Given the description of an element on the screen output the (x, y) to click on. 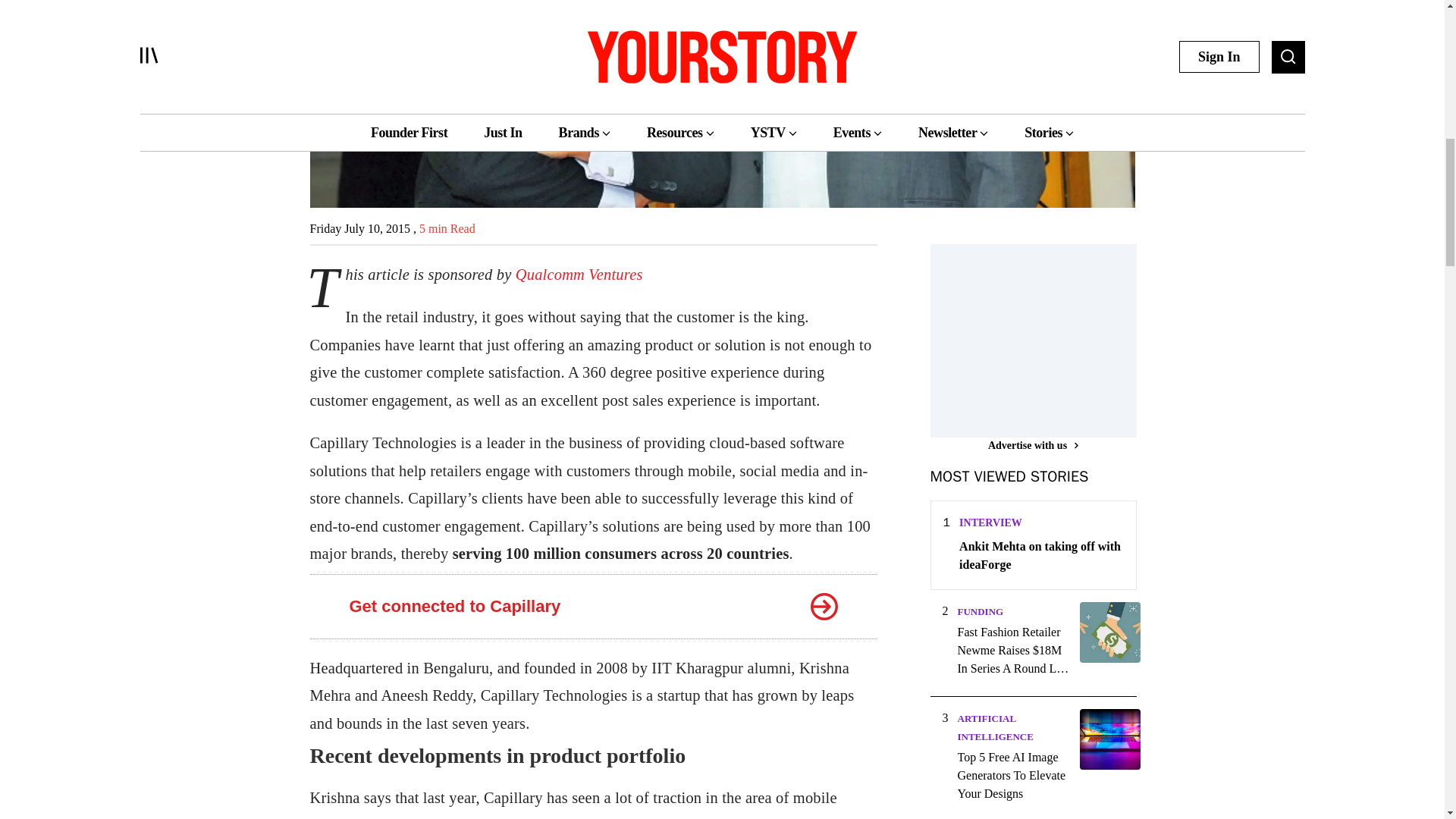
Top 5 Free AI Image Generators To Elevate Your Designs (1013, 775)
Qualcomm Ventures (579, 274)
INTERVIEW (990, 522)
FUNDING (979, 611)
Advertise with us (1032, 445)
ARTIFICIAL INTELLIGENCE (994, 727)
3rd party ad content (1043, 339)
Ankit Mehta on taking off with ideaForge (1040, 555)
